Given the description of an element on the screen output the (x, y) to click on. 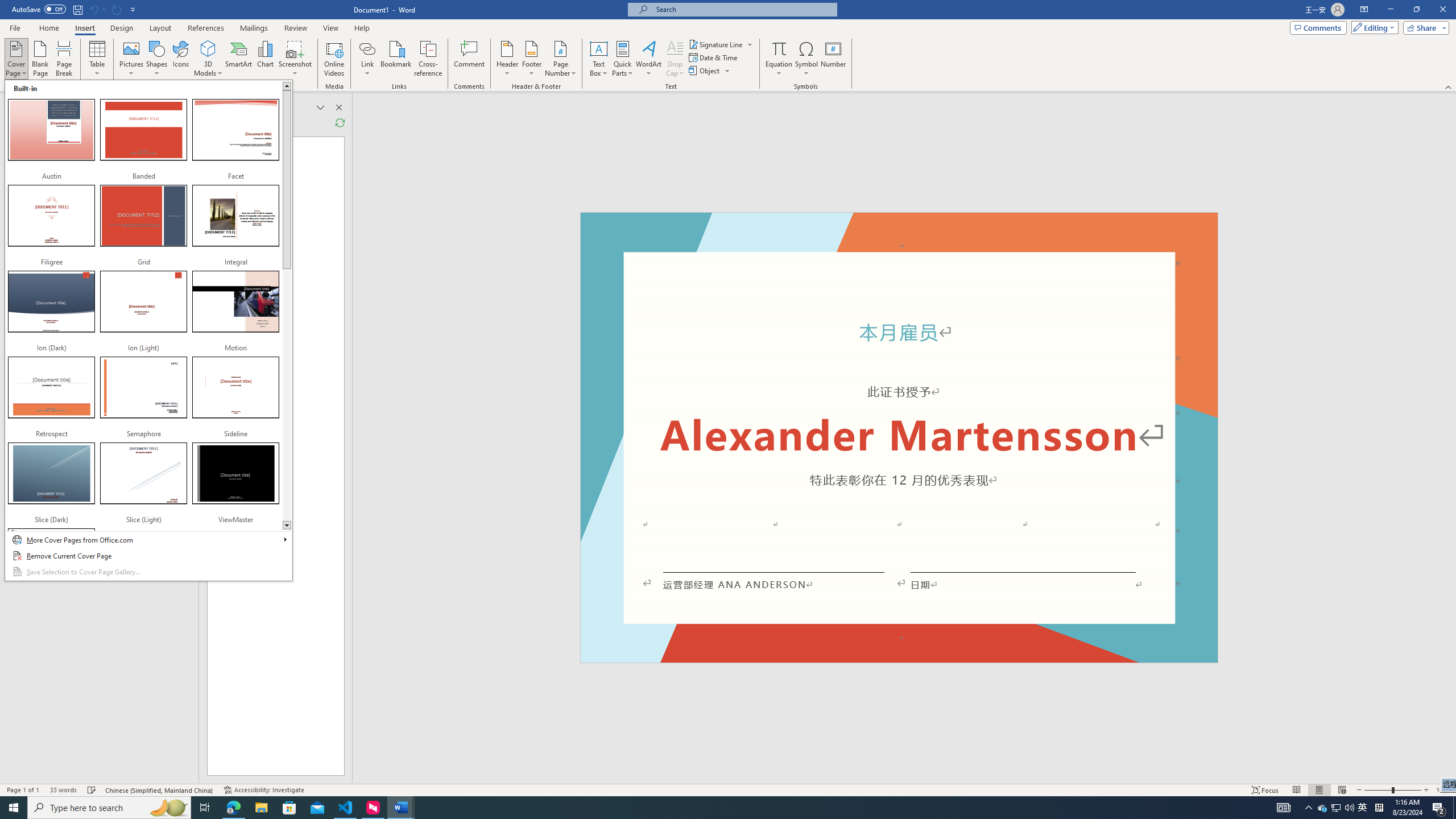
AutomationID: 4105 (1283, 807)
Cover Page (16, 58)
Class: MsoCommandBar (728, 789)
Signature Line (716, 44)
Chart... (265, 58)
WordArt (648, 58)
Object... (705, 69)
Symbol (806, 58)
Microsoft search (742, 9)
Object... (709, 69)
Text Box (598, 58)
Page Number (560, 58)
